Given the description of an element on the screen output the (x, y) to click on. 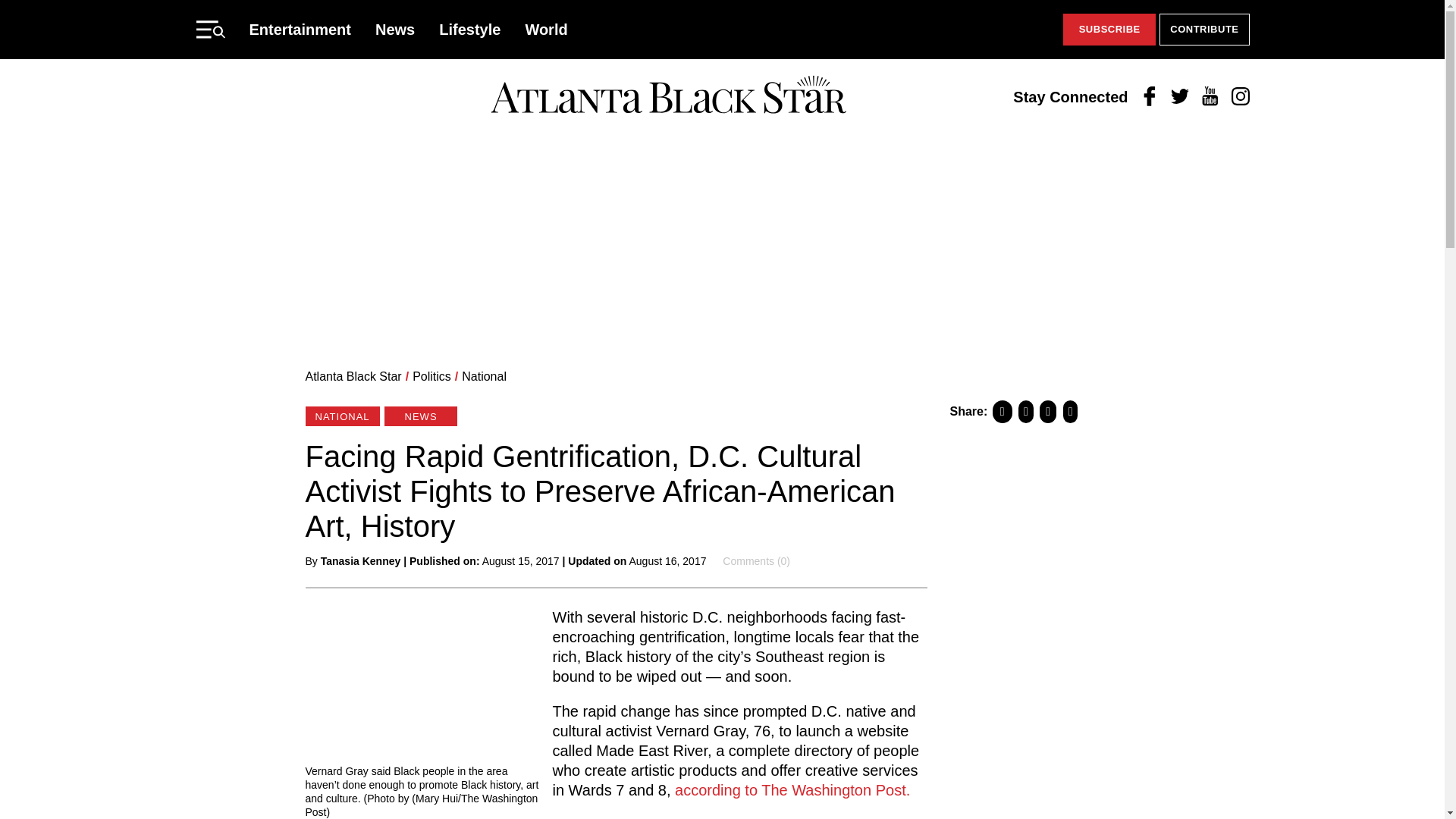
Politics (431, 376)
Go to Atlanta Black Star. (352, 376)
SUBSCRIBE (1109, 29)
National (483, 376)
Entertainment (299, 29)
Lifestyle (469, 29)
Go to the National Category archives. (483, 376)
Atlanta Black Star (667, 96)
Go to the Politics Category archives. (431, 376)
Atlanta Black Star (352, 376)
